Given the description of an element on the screen output the (x, y) to click on. 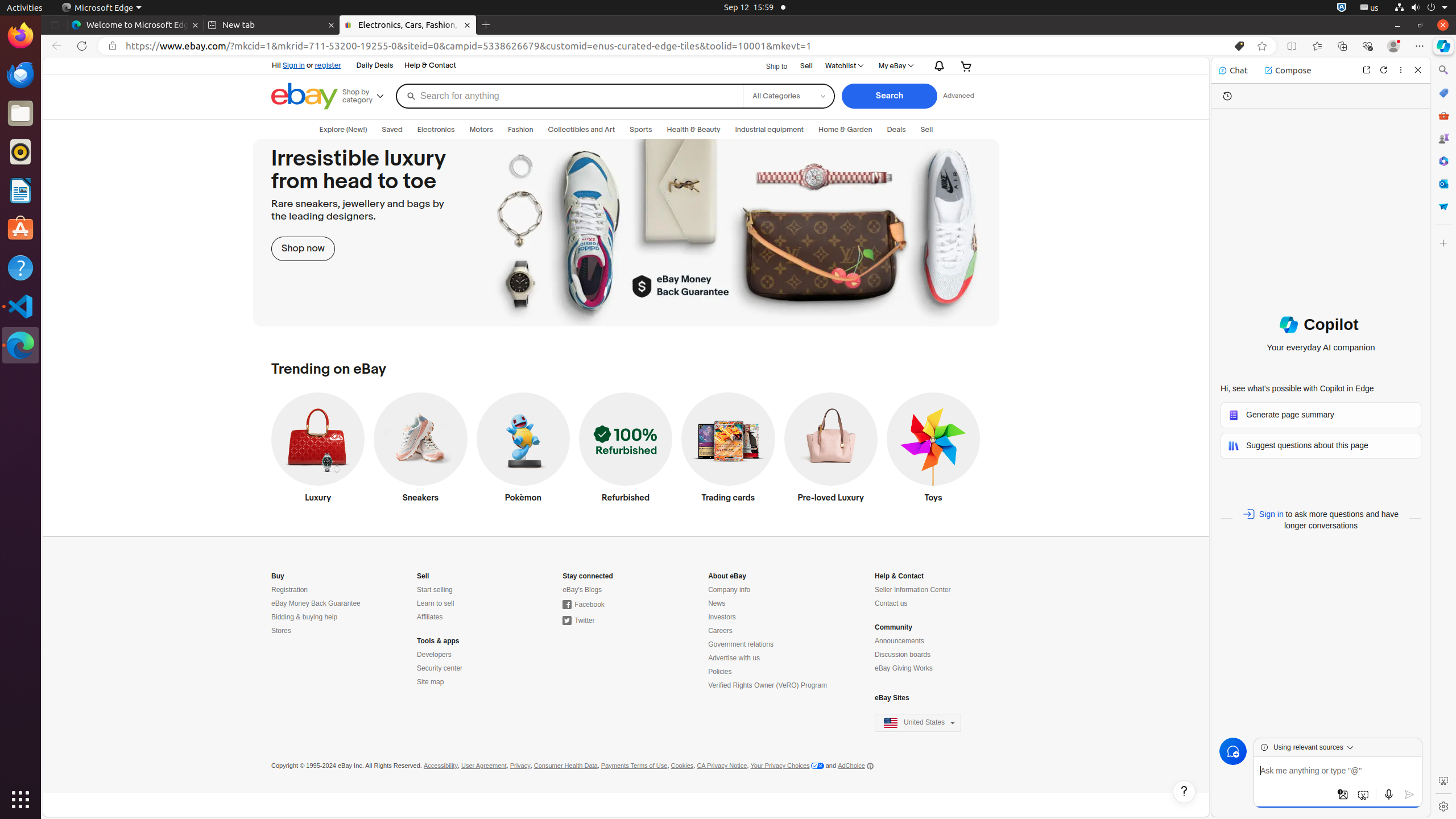
eBay Money Back Guarantee Element type: link (315, 603)
Games Element type: push-button (1443, 137)
Community Element type: link (893, 627)
Pre-loved Luxury Element type: link (830, 450)
Shop by category Element type: push-button (366, 95)
